Given the description of an element on the screen output the (x, y) to click on. 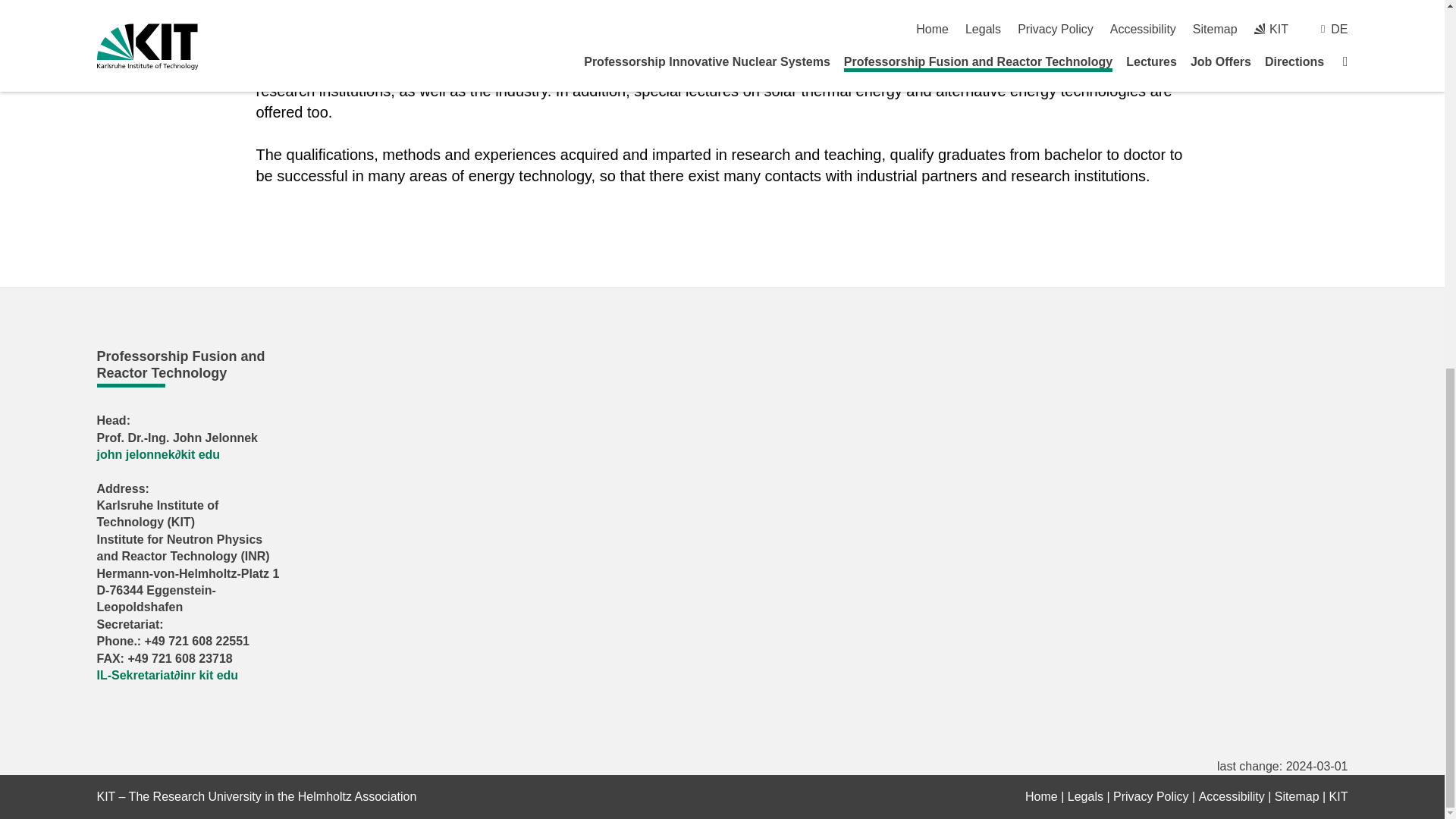
startpage (1041, 796)
